Given the description of an element on the screen output the (x, y) to click on. 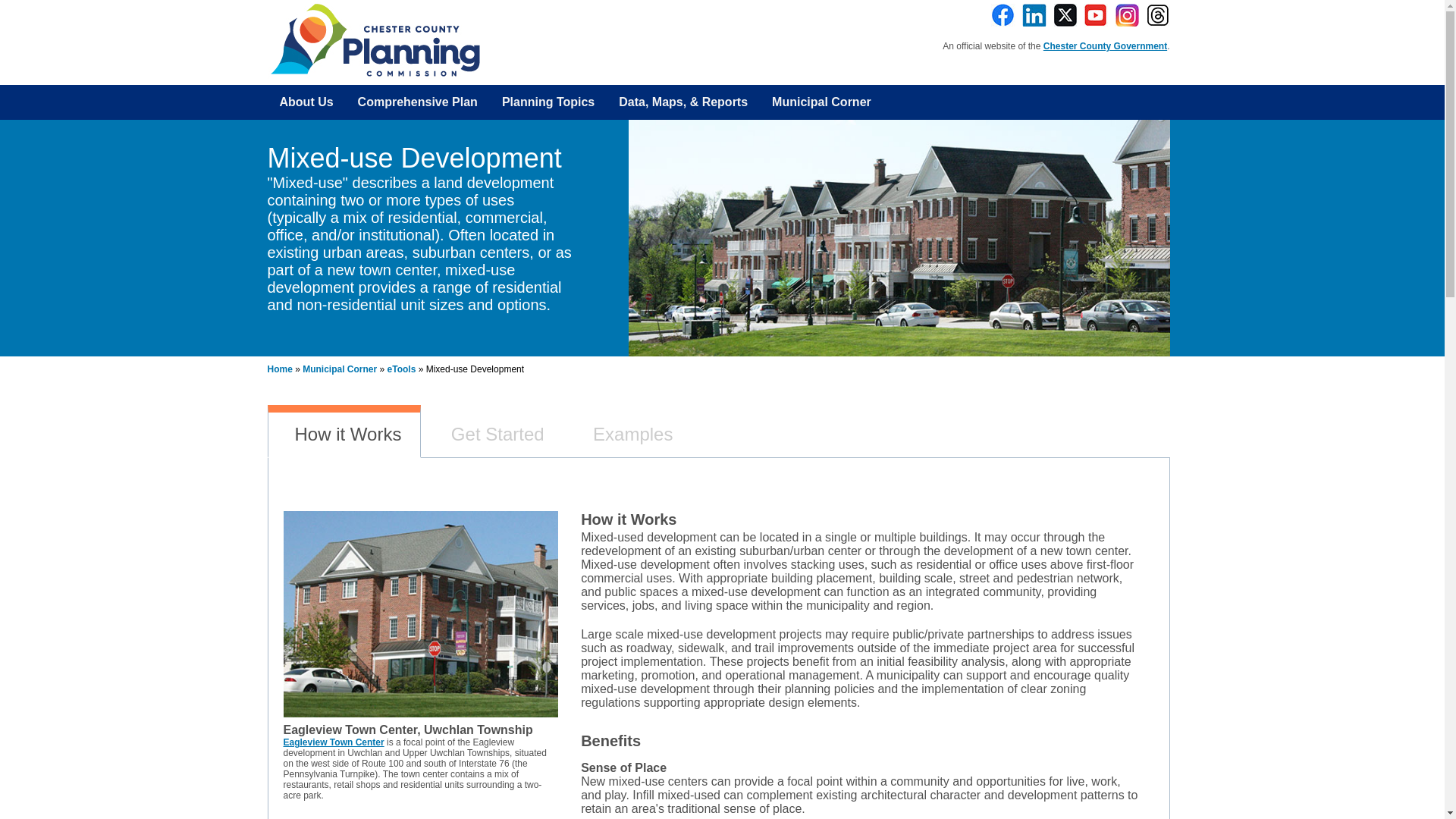
About Us (305, 102)
Comprehensive Plan (417, 102)
Planning Topics (548, 102)
Chester County Government (1105, 45)
Search (17, 7)
